Given the description of an element on the screen output the (x, y) to click on. 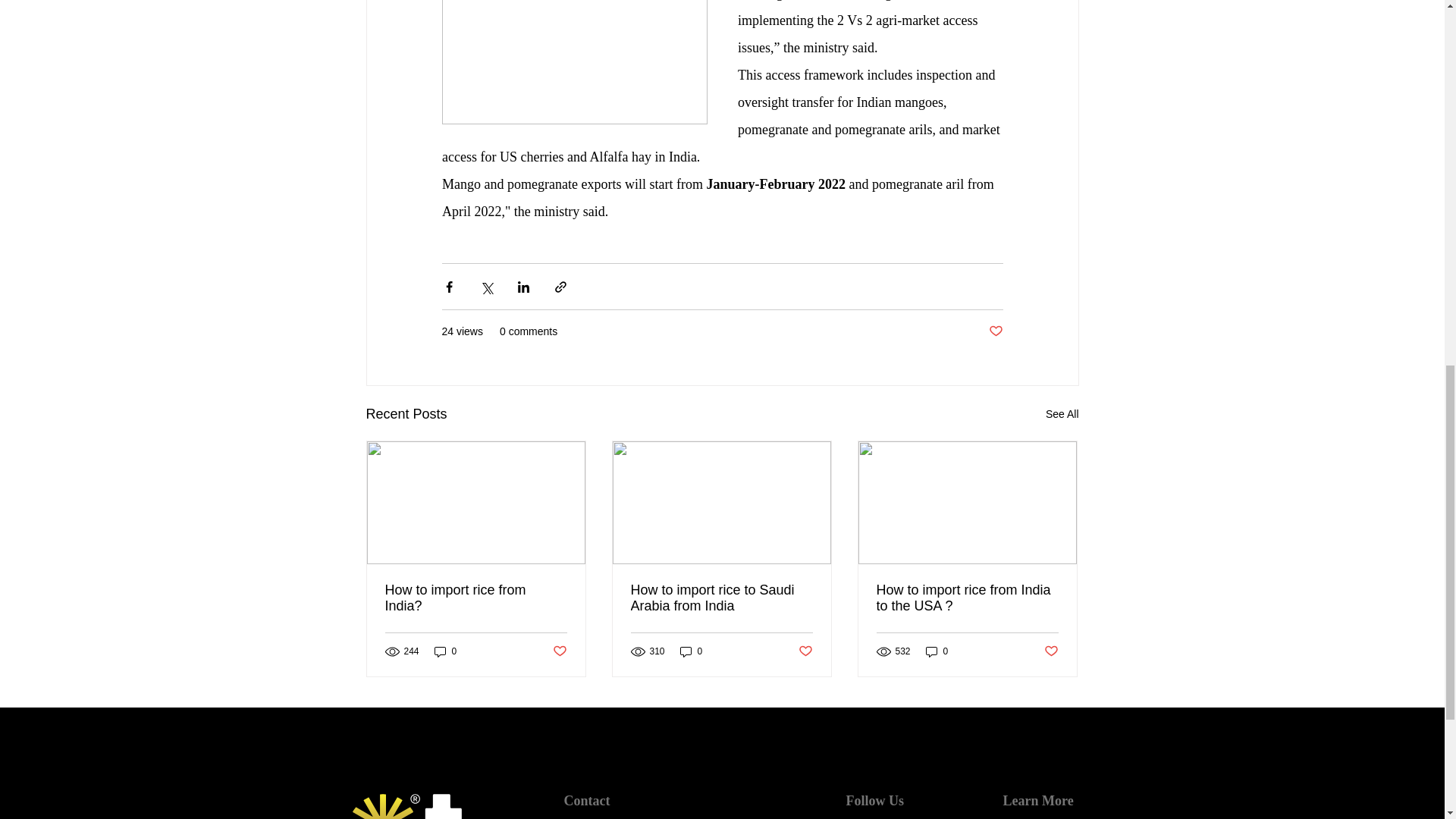
Post not marked as liked (1050, 650)
How to import rice from India to the USA ? (967, 598)
How to import rice from India? (476, 598)
0 (937, 651)
Post not marked as liked (995, 331)
Post not marked as liked (804, 650)
See All (1061, 414)
0 (445, 651)
0 (691, 651)
Post not marked as liked (558, 650)
